Given the description of an element on the screen output the (x, y) to click on. 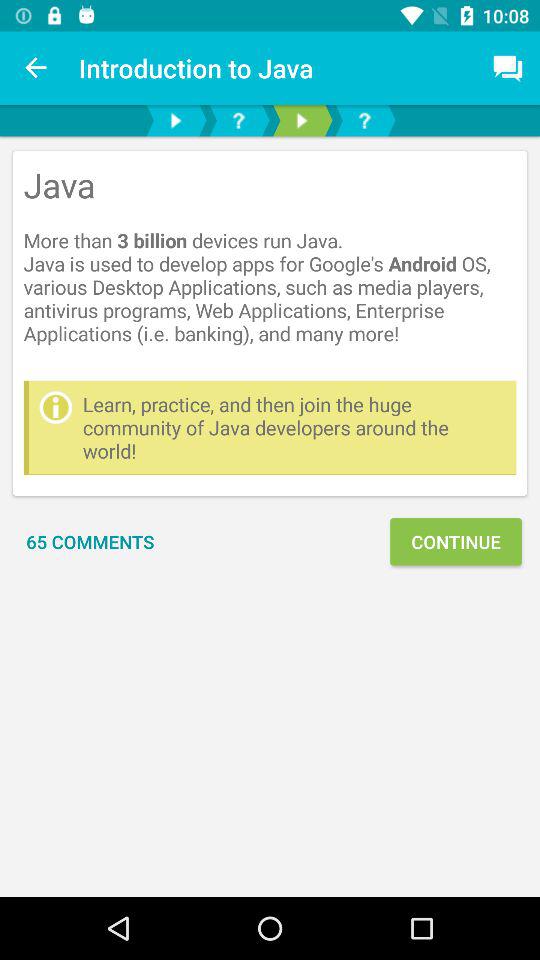
select 65 comments (90, 541)
